Given the description of an element on the screen output the (x, y) to click on. 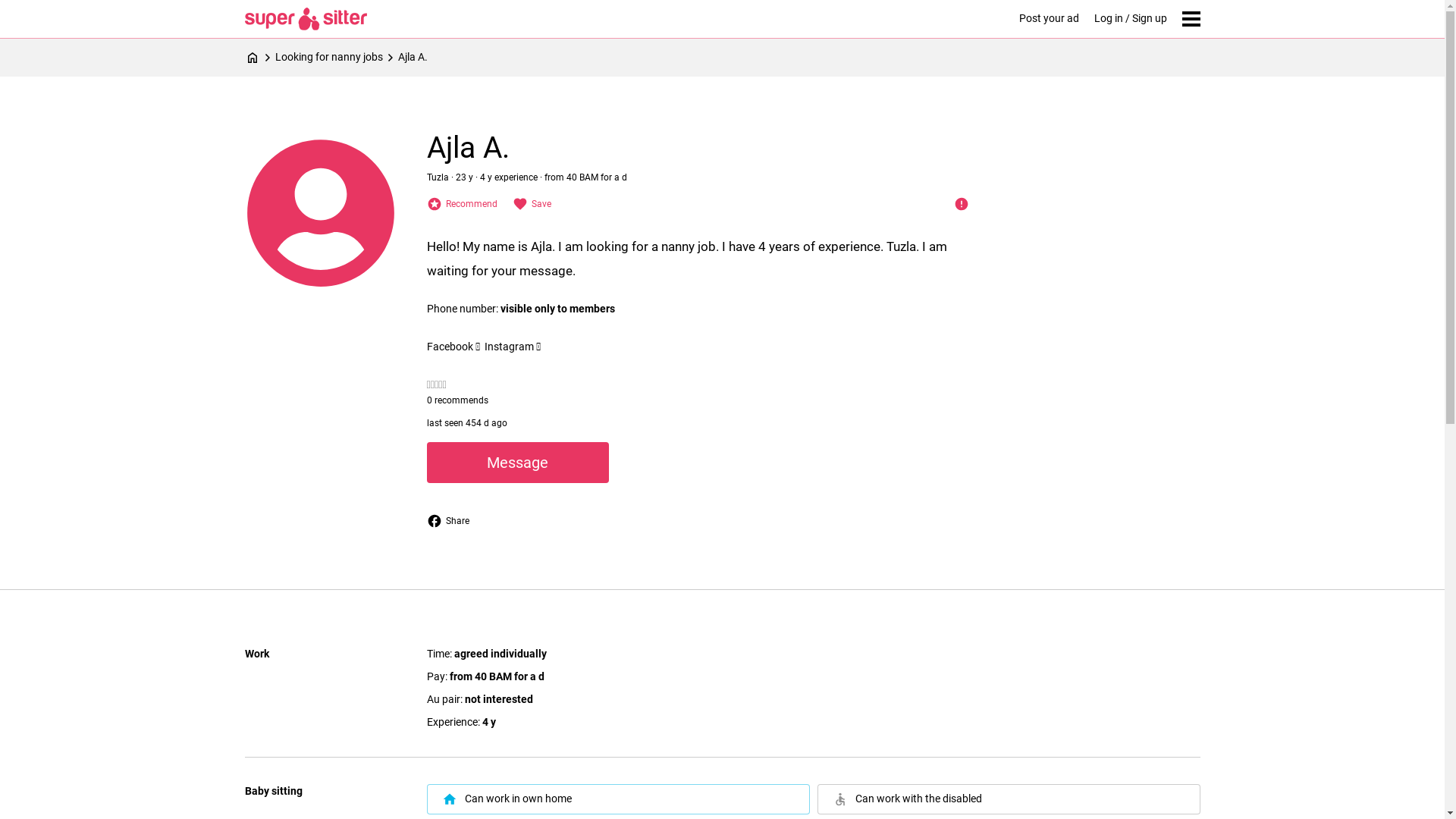
visible only to members Element type: text (557, 308)
Instagram Element type: text (513, 346)
Facebook Element type: text (454, 346)
Share Element type: text (447, 520)
Looking for nanny jobs Element type: text (335, 56)
Log in / Sign up Element type: text (1129, 18)
Message Element type: text (517, 462)
Recommend Element type: text (461, 203)
